Given the description of an element on the screen output the (x, y) to click on. 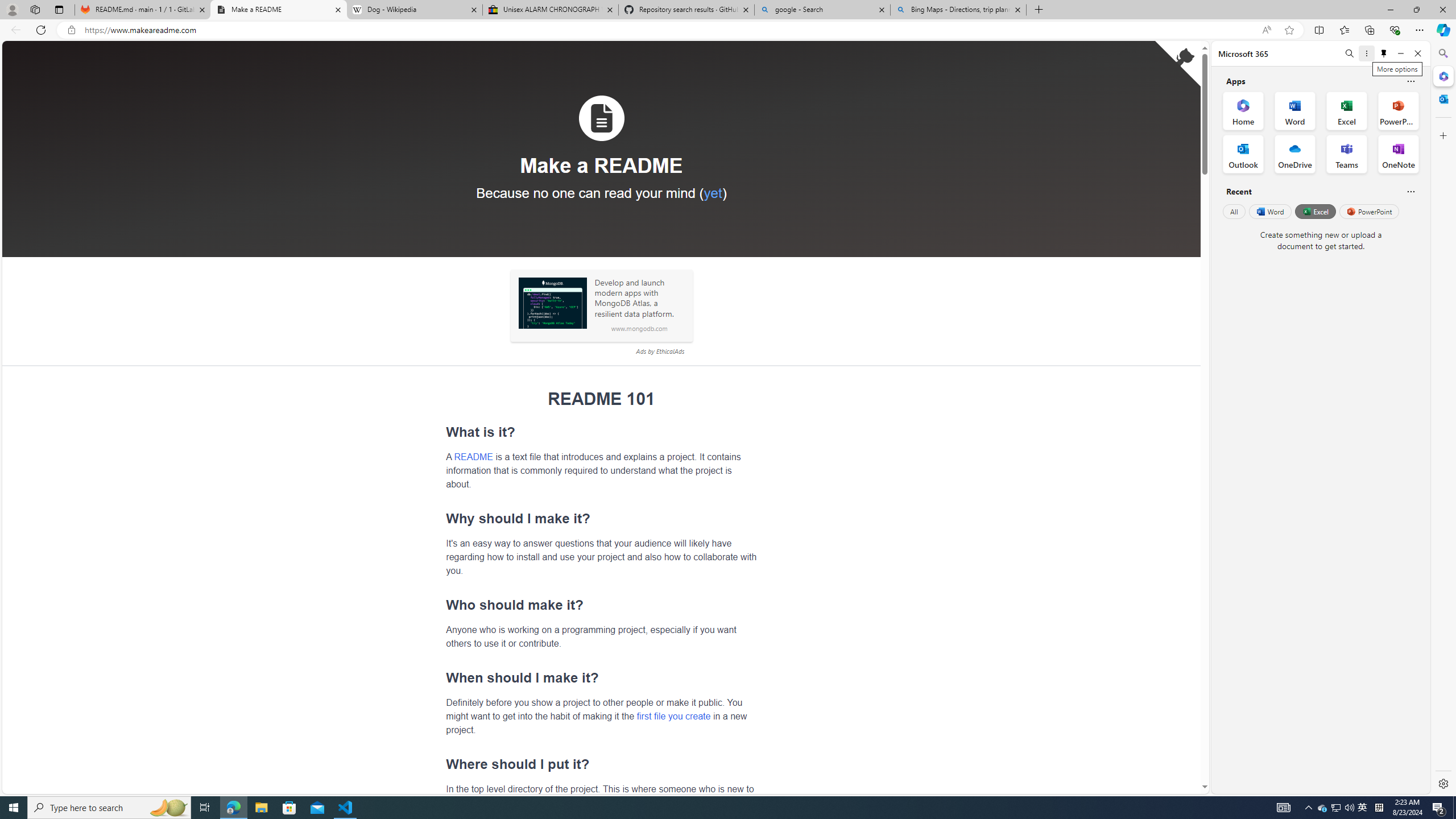
Teams Office App (1346, 154)
OneNote Office App (1398, 154)
